Given the description of an element on the screen output the (x, y) to click on. 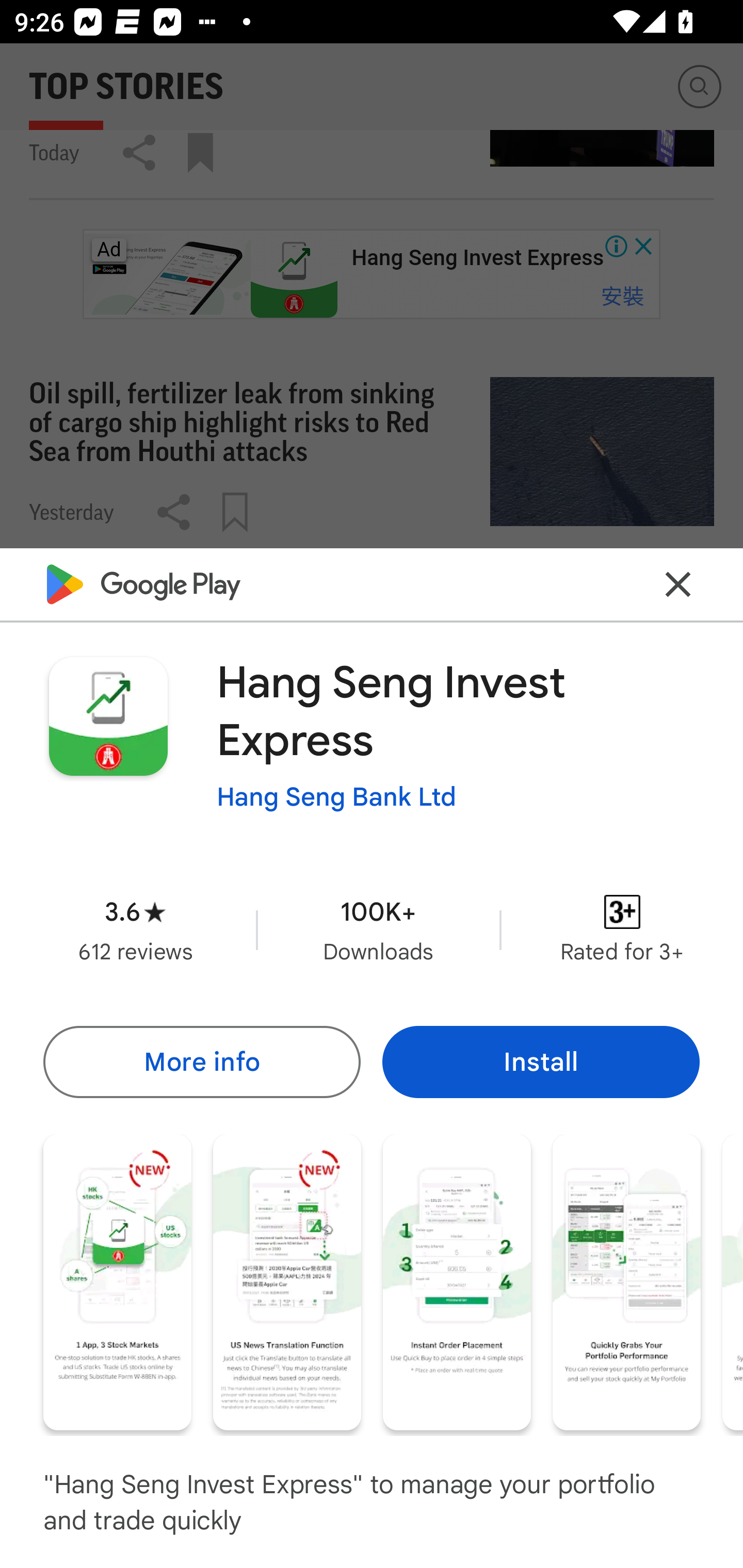
Close (677, 584)
Hang Seng Bank Ltd (336, 796)
More info (201, 1061)
Install (540, 1061)
Screenshot "1" of "7" (117, 1281)
Screenshot "2" of "7" (287, 1281)
Screenshot "3" of "7" (456, 1281)
Screenshot "4" of "7" (626, 1281)
